Given the description of an element on the screen output the (x, y) to click on. 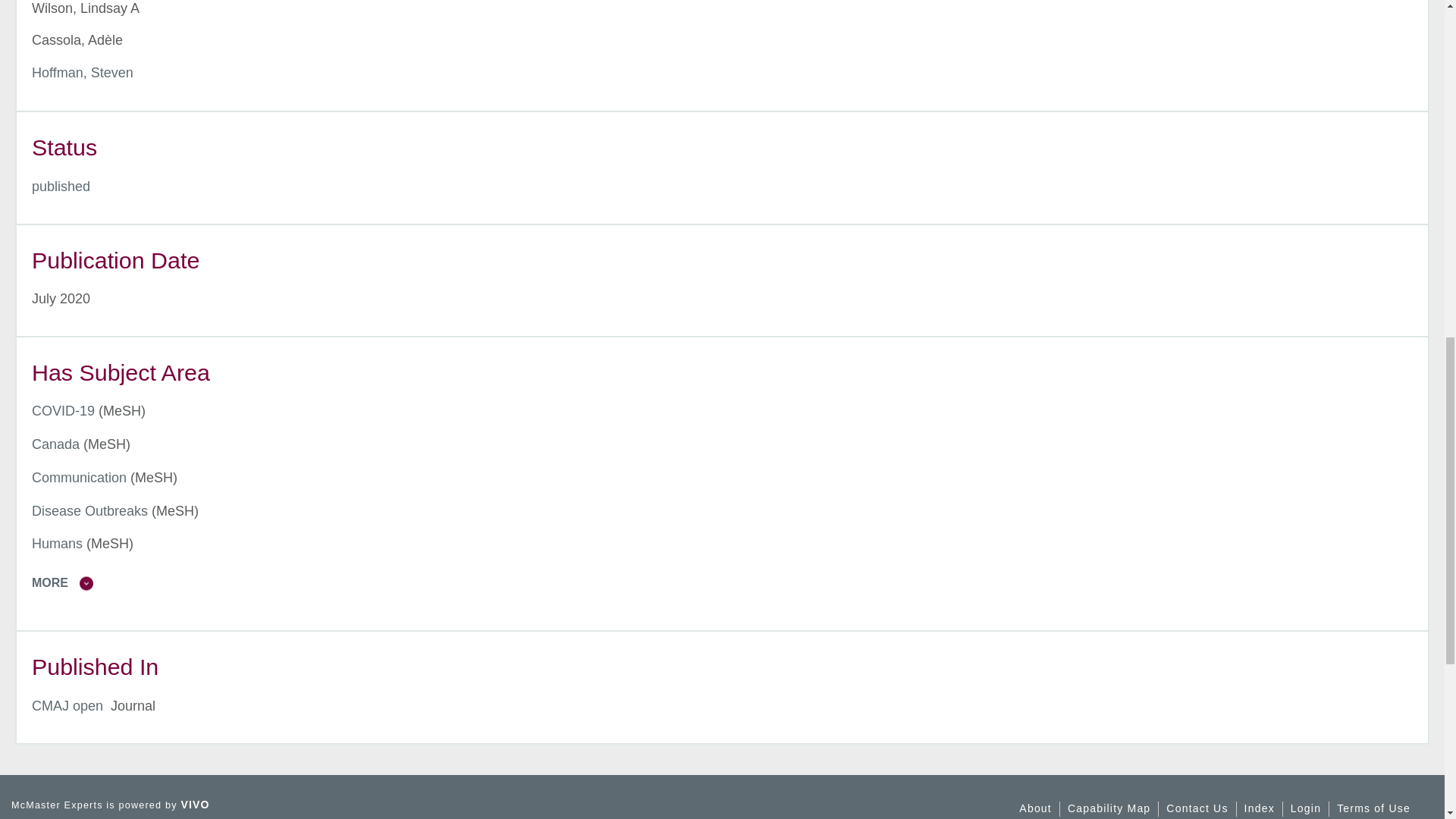
name (61, 186)
concept name (57, 543)
concept name (79, 477)
concept name (90, 510)
concept name (56, 444)
concept name (63, 410)
author name (82, 72)
